Given the description of an element on the screen output the (x, y) to click on. 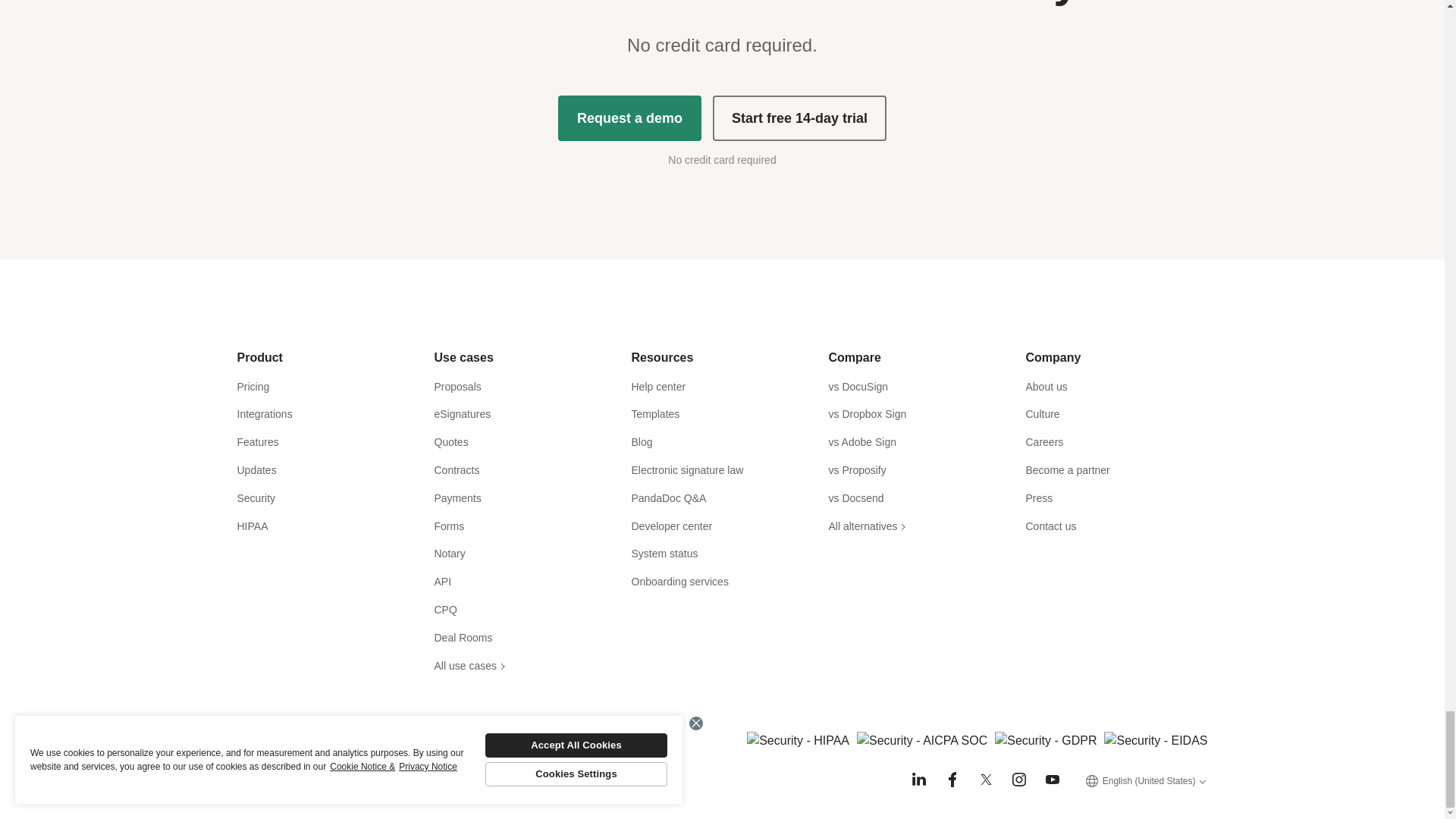
Instagram (1018, 779)
LinkedIn (919, 779)
Facebook (951, 779)
Twitter (985, 779)
Youtube (1052, 779)
